Given the description of an element on the screen output the (x, y) to click on. 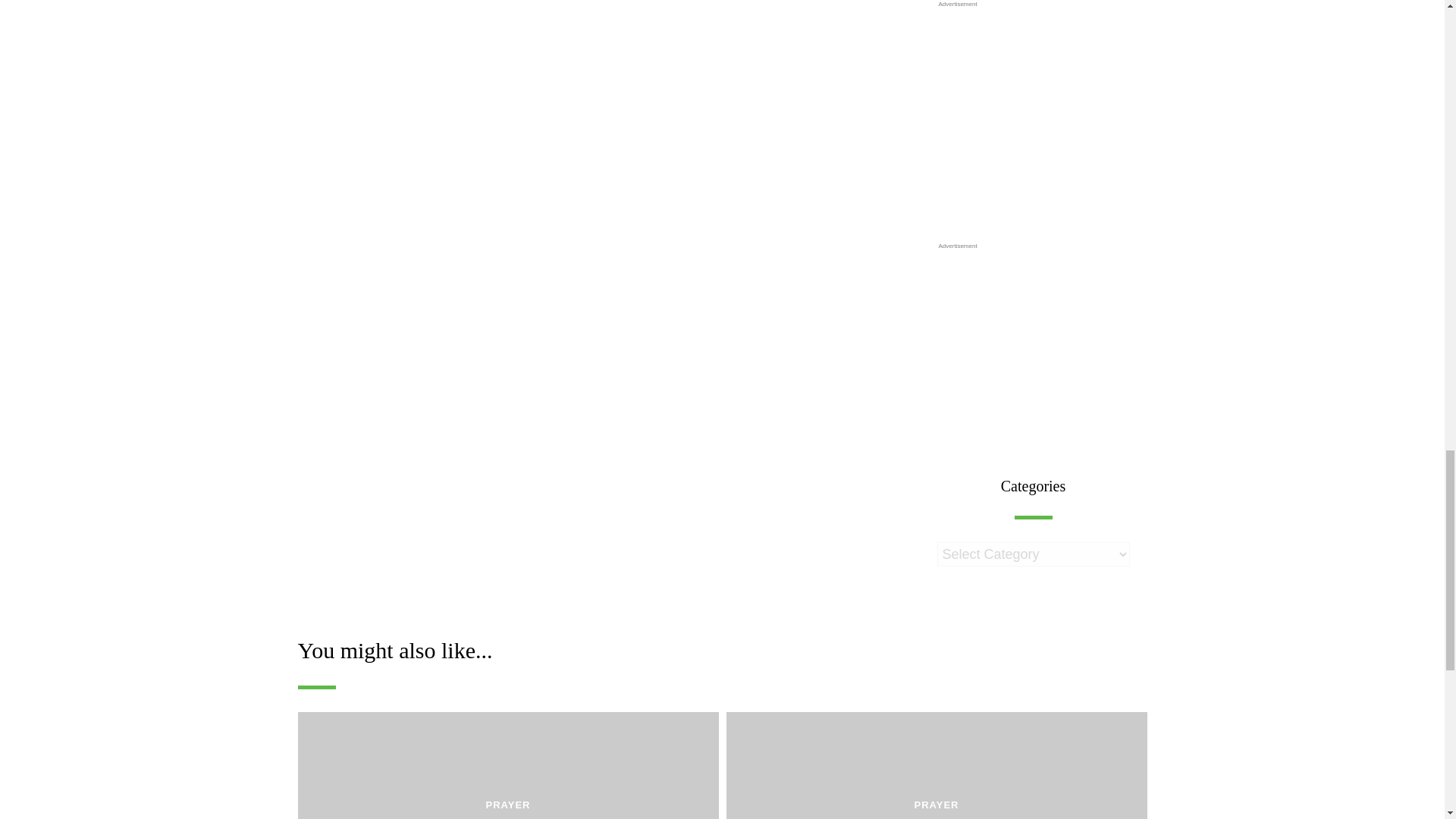
PRAYER (506, 805)
